Given the description of an element on the screen output the (x, y) to click on. 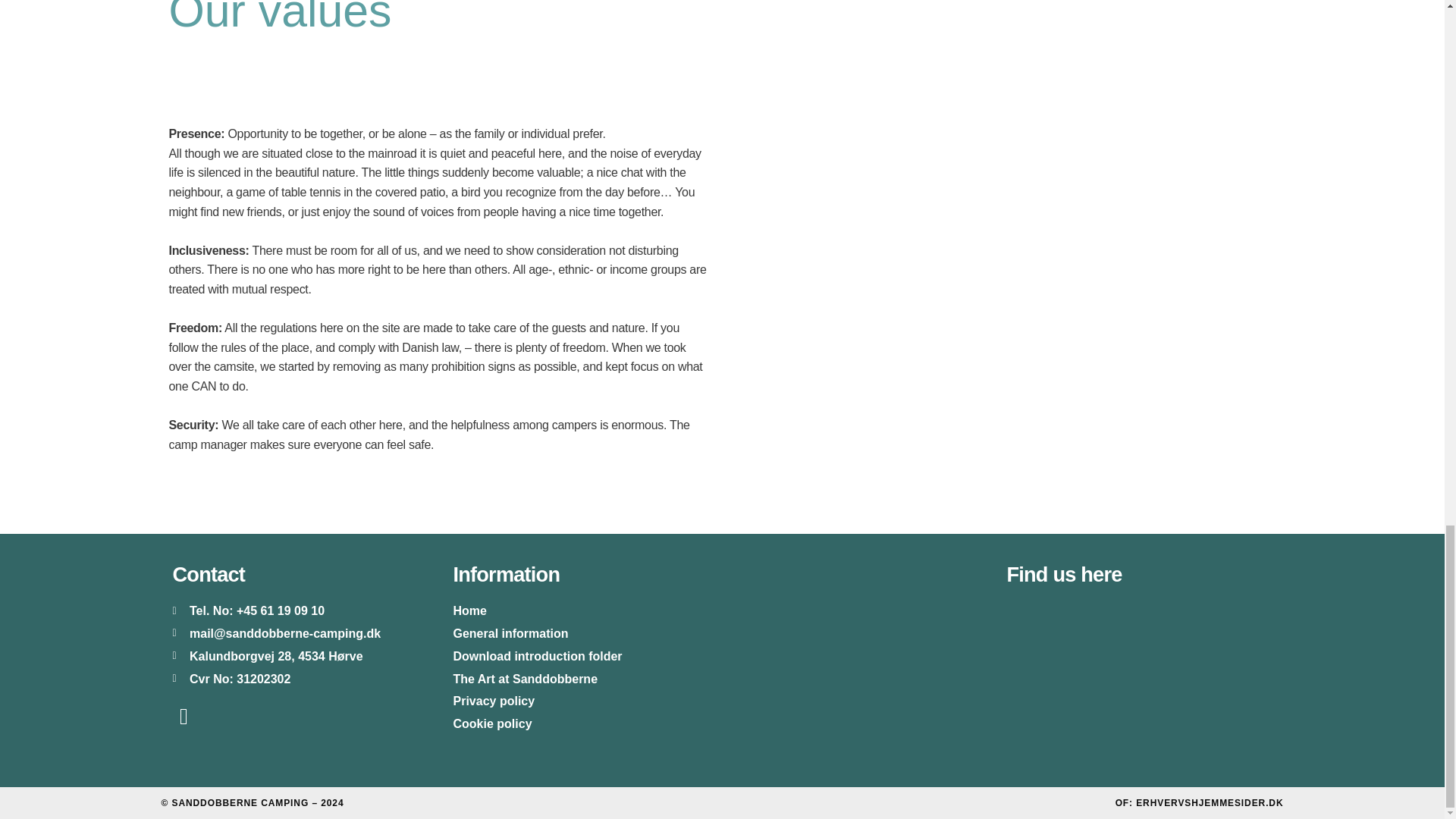
Sanddobberne camping (1139, 681)
Download introduction folder (587, 656)
General information (587, 633)
Home (587, 610)
The Art at Sanddobberne (587, 679)
